Given the description of an element on the screen output the (x, y) to click on. 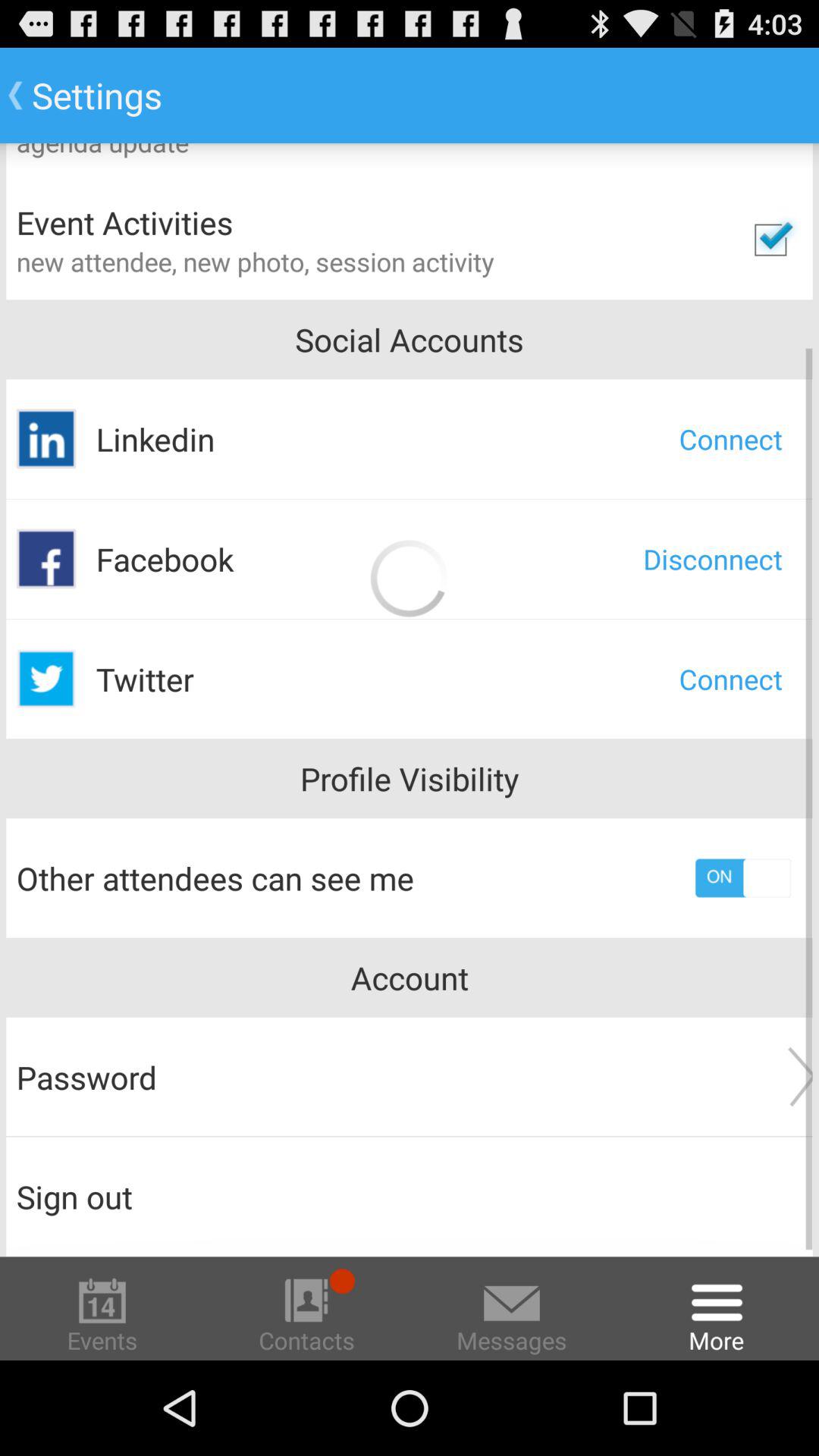
on button (742, 877)
